Given the description of an element on the screen output the (x, y) to click on. 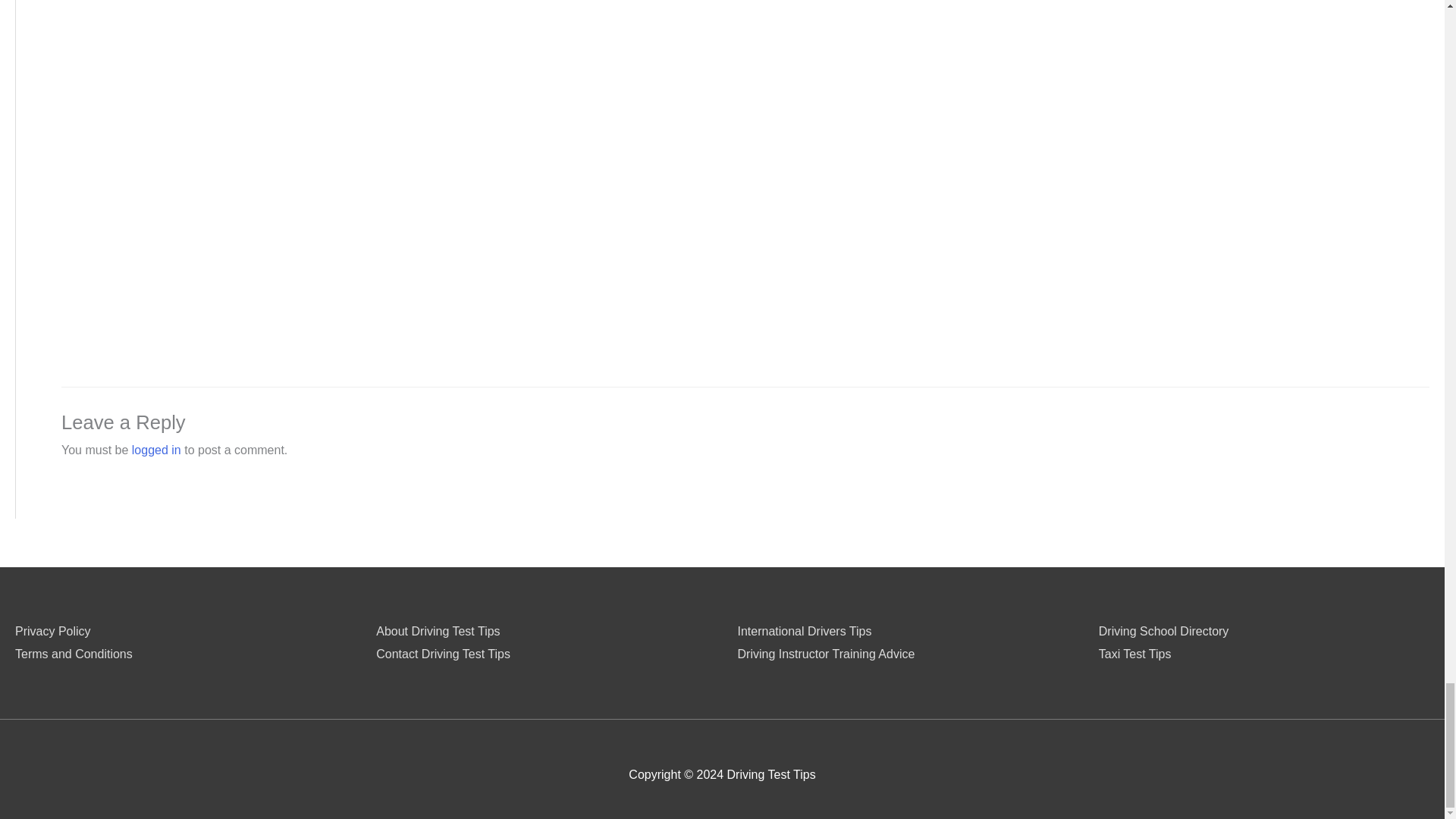
logged in (156, 449)
Privacy Policy (52, 631)
